Given the description of an element on the screen output the (x, y) to click on. 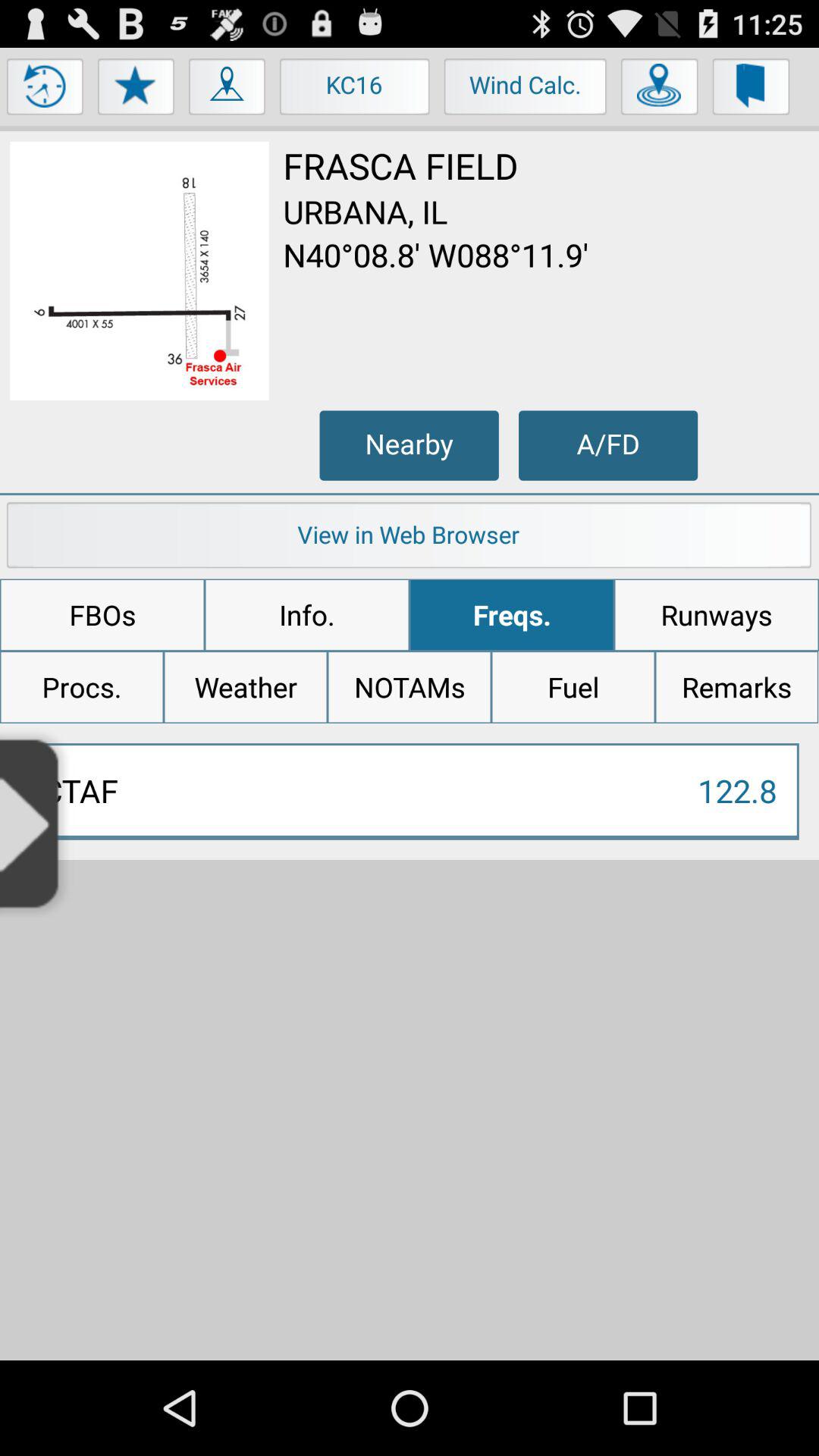
open icon next to the a/fd icon (408, 445)
